Given the description of an element on the screen output the (x, y) to click on. 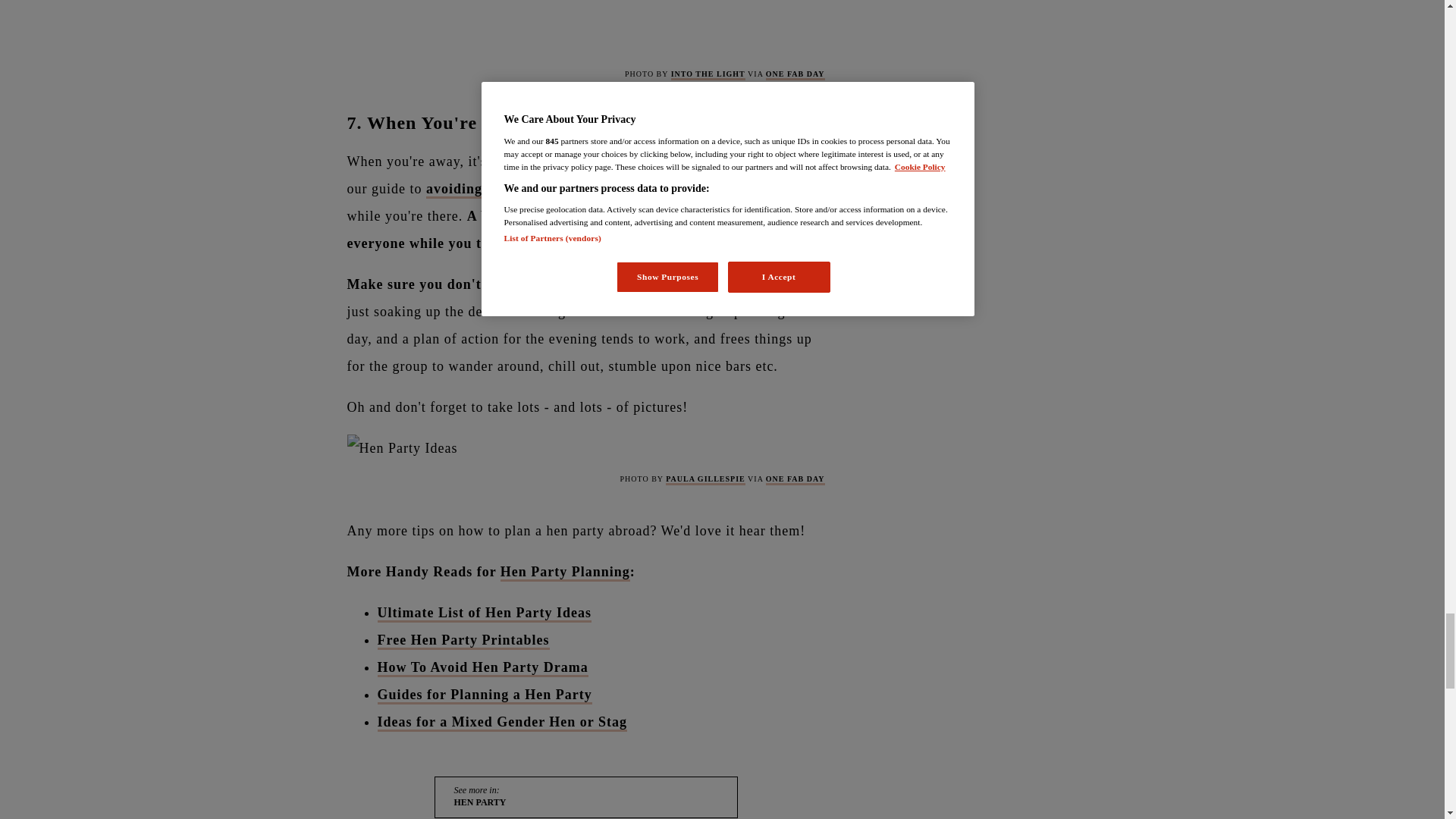
Paula Gillespie (705, 480)
